Given the description of an element on the screen output the (x, y) to click on. 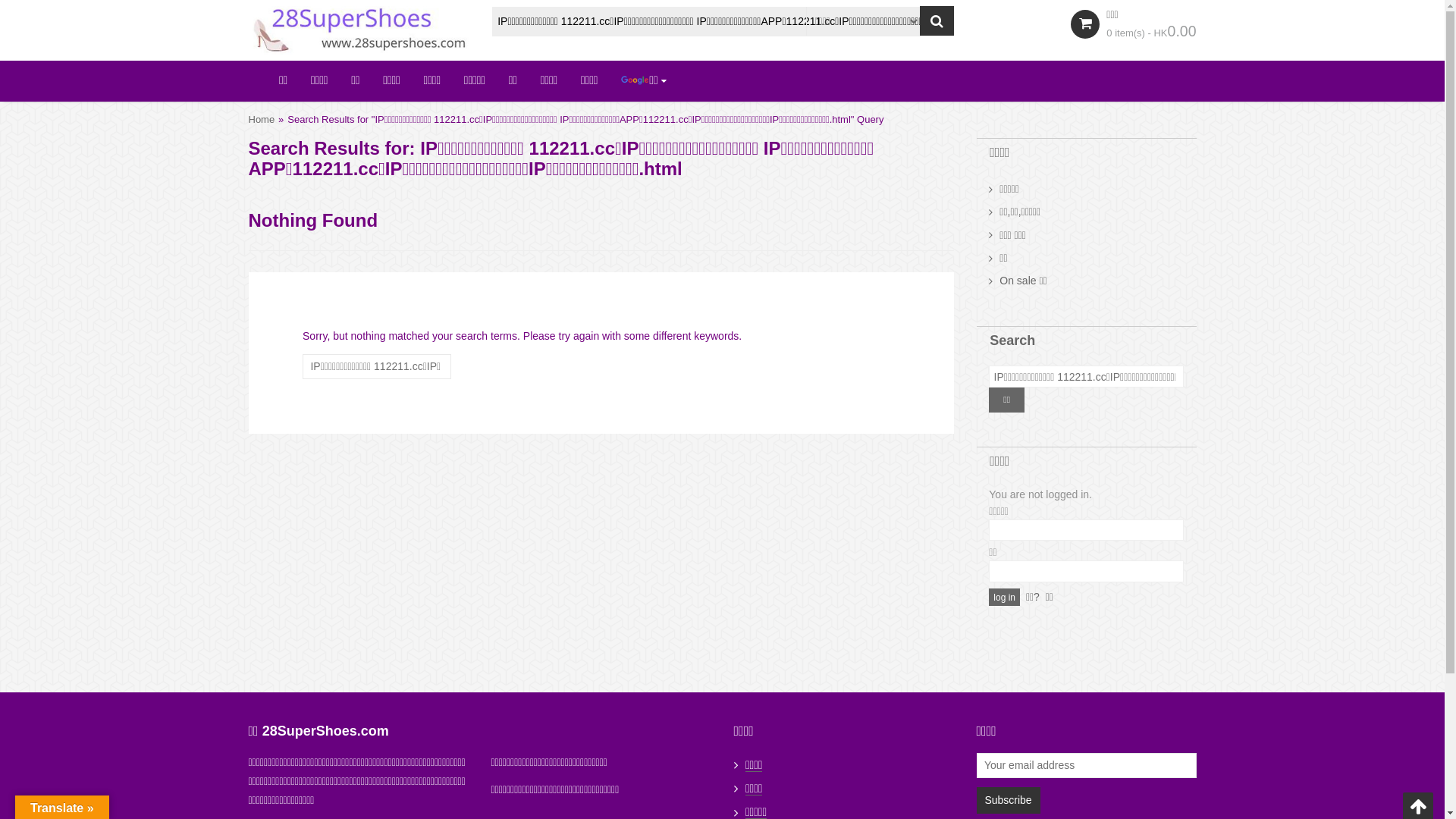
log in Element type: text (1003, 596)
Subscribe Element type: text (1008, 800)
Home Element type: text (261, 119)
